Given the description of an element on the screen output the (x, y) to click on. 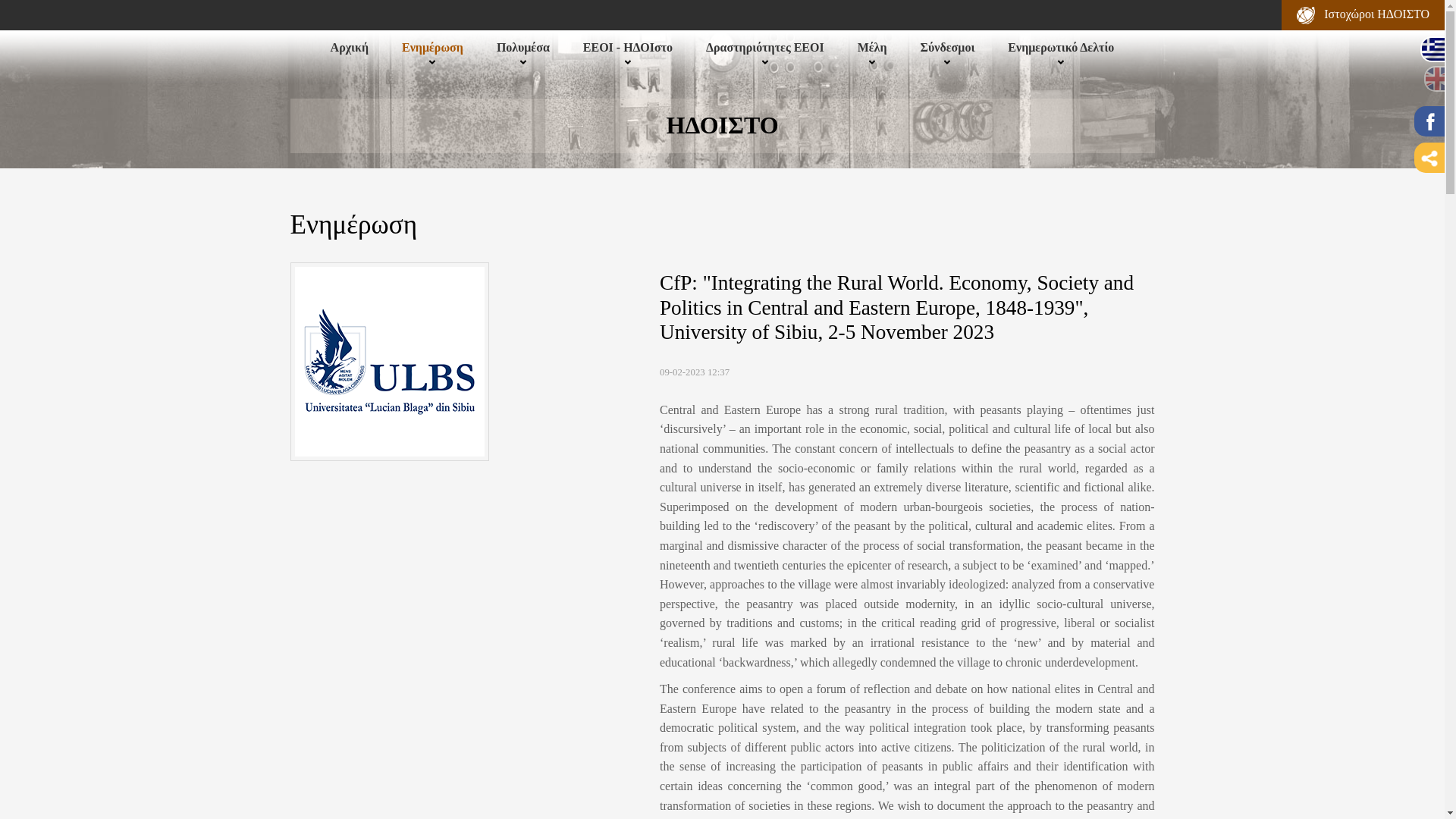
ShareOnSocialMedia (1429, 157)
